Given the description of an element on the screen output the (x, y) to click on. 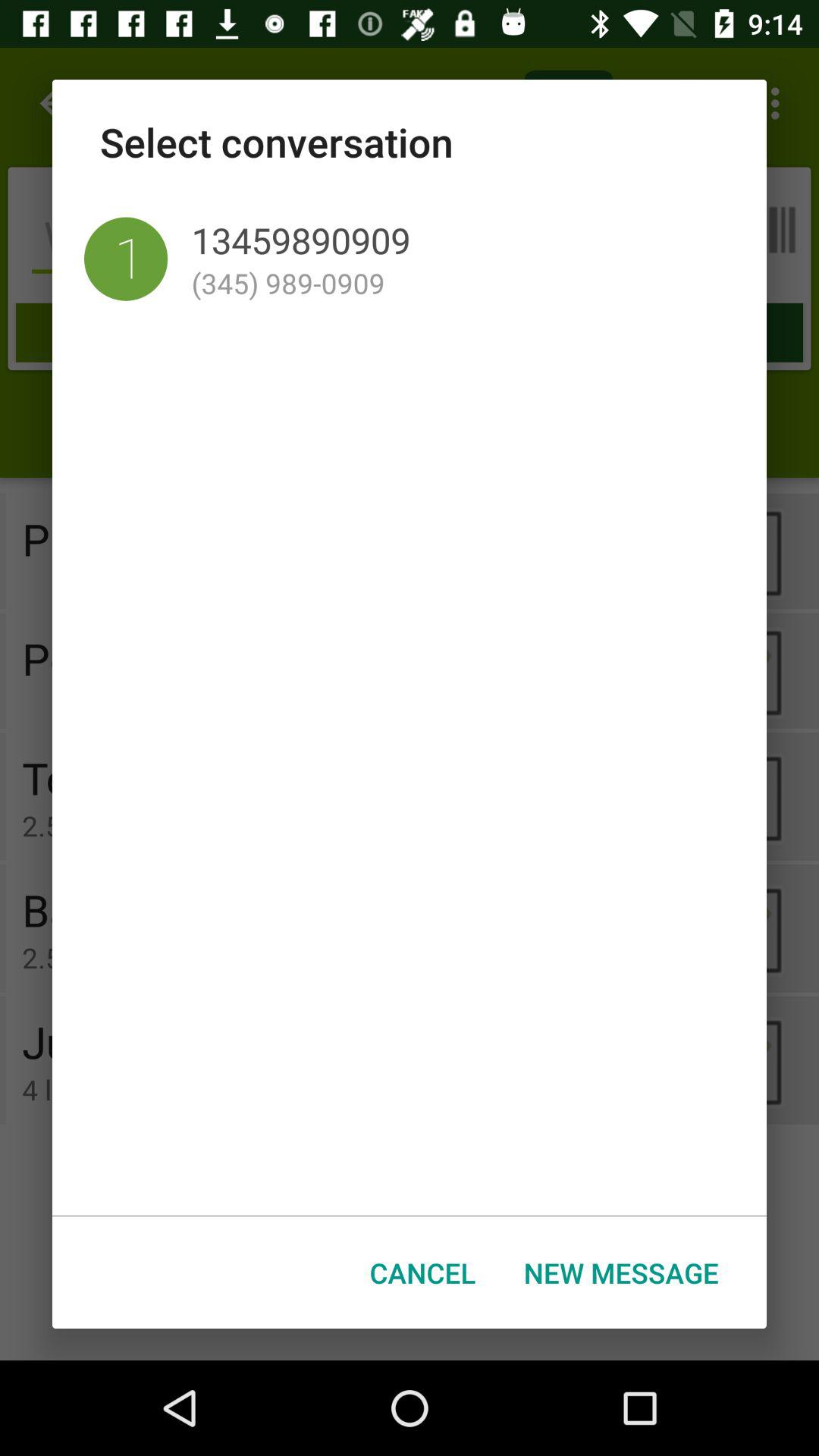
press icon next to cancel button (620, 1272)
